Given the description of an element on the screen output the (x, y) to click on. 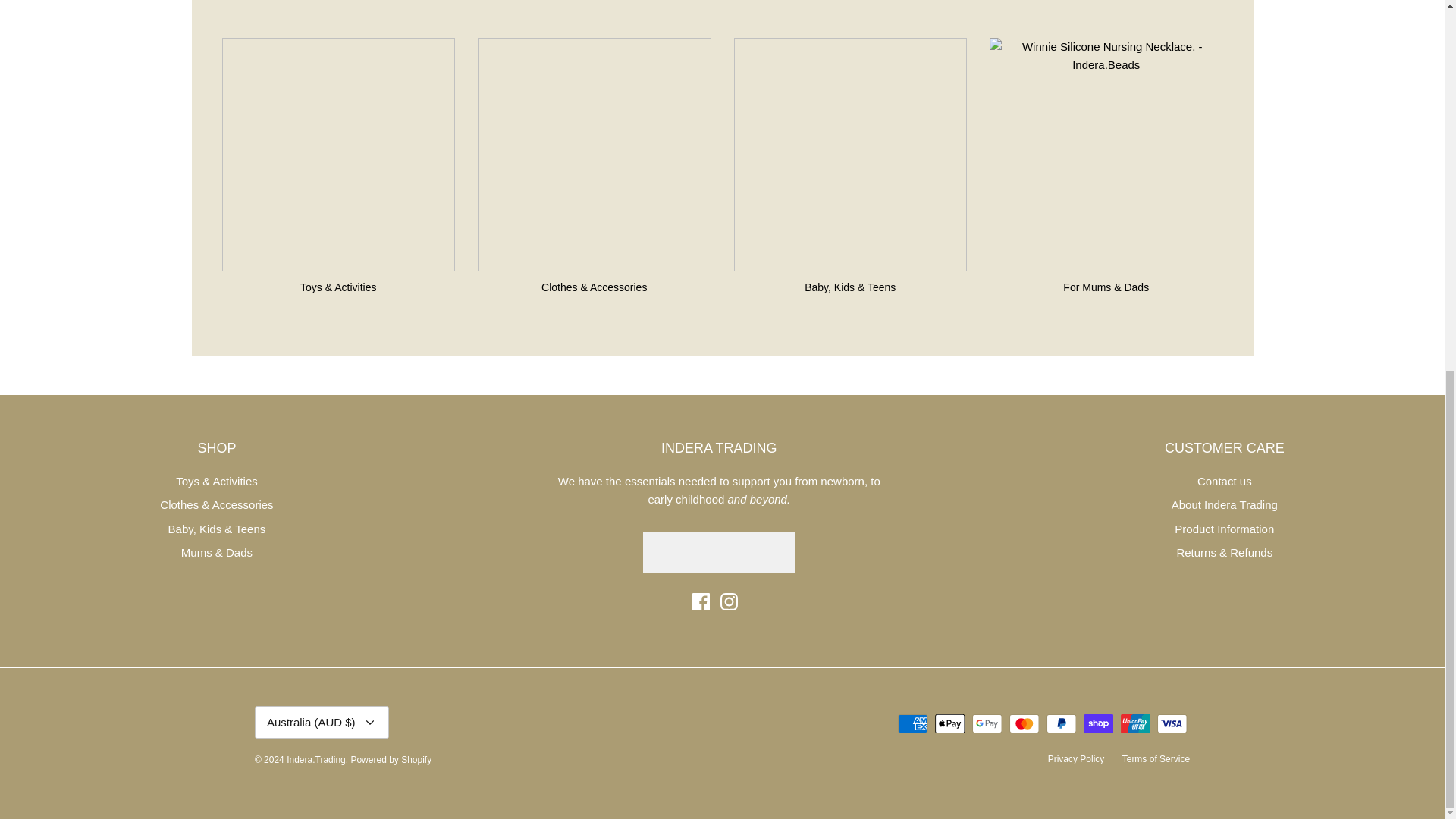
Instagram (729, 601)
Apple Pay (949, 723)
Mastercard (1024, 723)
American Express (912, 723)
Down (369, 722)
PayPal (1060, 723)
Union Pay (1135, 723)
Shop Pay (1098, 723)
Facebook (701, 601)
Google Pay (986, 723)
